Given the description of an element on the screen output the (x, y) to click on. 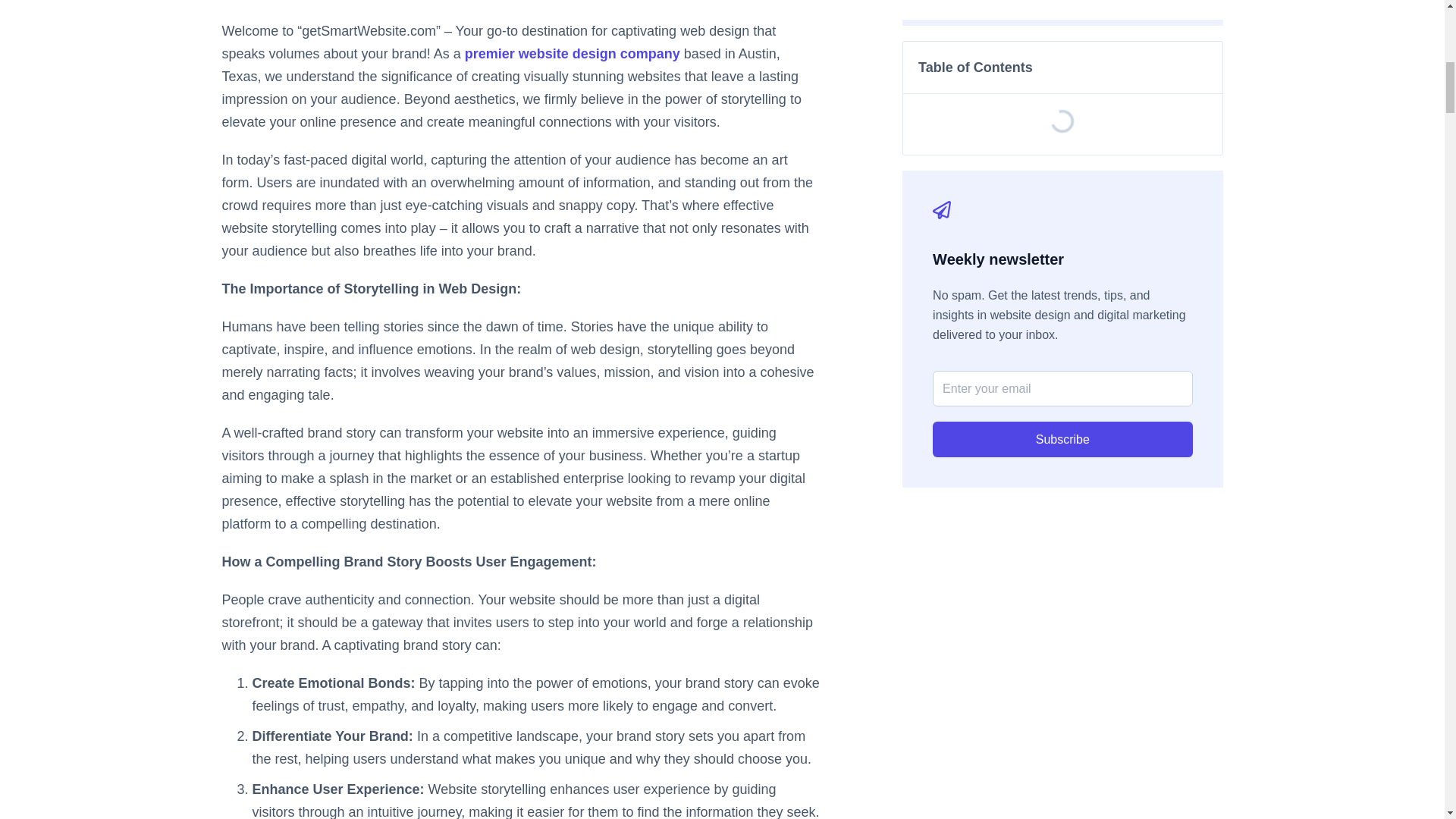
premier website design company (571, 53)
Subscribe (1062, 439)
